Given the description of an element on the screen output the (x, y) to click on. 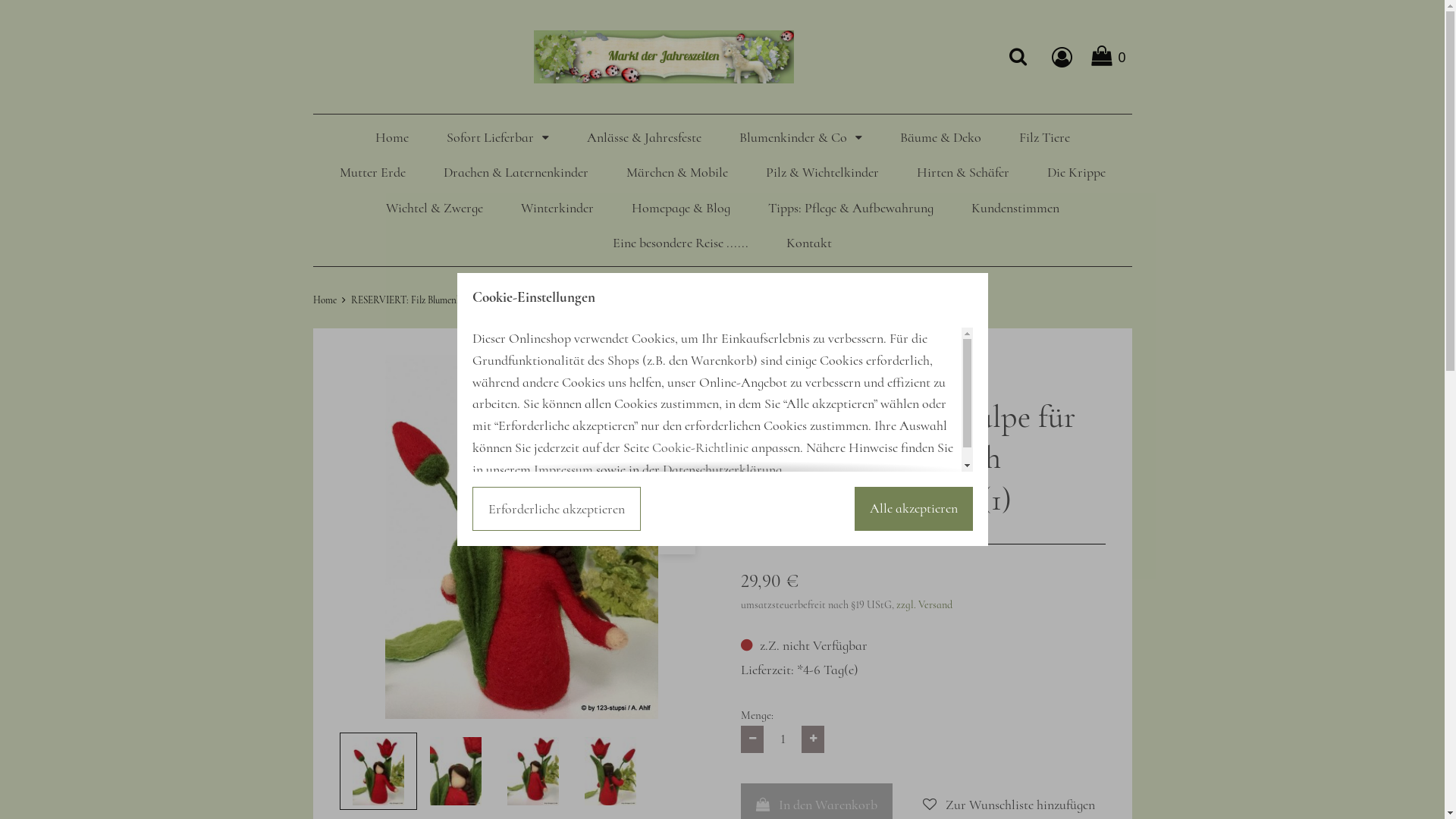
Tipps: Pflege & Aufbewahrung Element type: text (849, 207)
Pilz & Wichtelkinder Element type: text (821, 171)
Impressum Element type: text (563, 469)
Drachen & Laternenkinder Element type: text (514, 171)
Filz Tiere Element type: text (1044, 136)
Erforderliche akzeptieren Element type: text (555, 508)
Suche Element type: text (1017, 55)
zzgl. Versand Element type: text (924, 604)
Wichtel & Zwerge Element type: text (433, 207)
Sofort Lieferbar Element type: text (496, 136)
Home Element type: text (390, 136)
Die Krippe Element type: text (1075, 171)
Mutter Erde Element type: text (372, 171)
Alle akzeptieren Element type: text (912, 508)
Kontakt Element type: text (808, 242)
Home Element type: text (323, 300)
Blumenkinder & Co Element type: text (799, 136)
Cookie-Richtlinie Element type: text (700, 447)
Homepage & Blog Element type: text (679, 207)
Markt der Jahreszeiten Element type: hover (663, 56)
Winterkinder Element type: text (556, 207)
Warenkorb anzeigen. Sie haben 0 Artikel im Warenkorb.
0 Element type: text (1111, 55)
Kundenstimmen Element type: text (1014, 207)
Eine besondere Reise ...... Element type: text (680, 242)
